Given the description of an element on the screen output the (x, y) to click on. 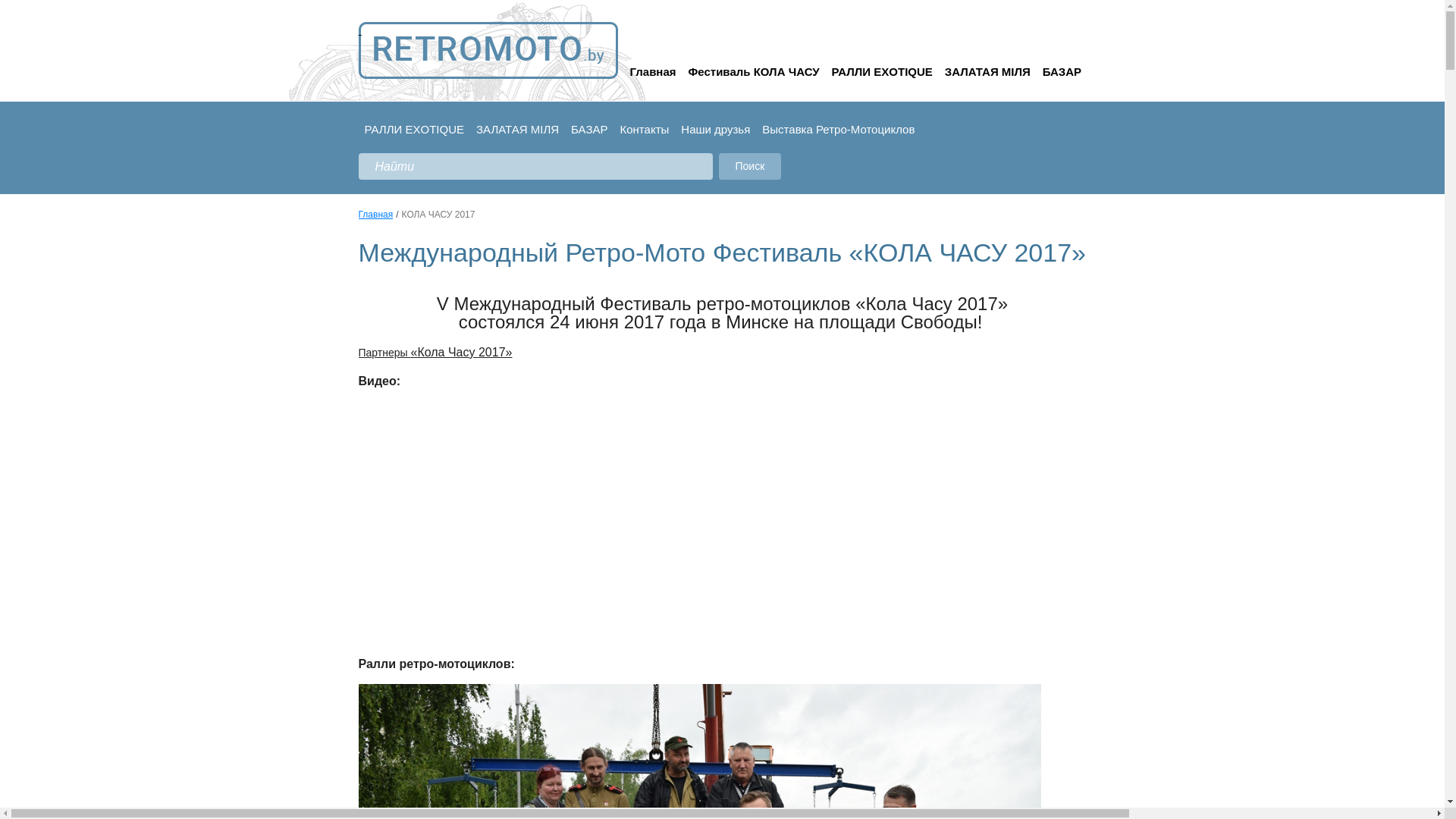
  Element type: text (487, 49)
